Given the description of an element on the screen output the (x, y) to click on. 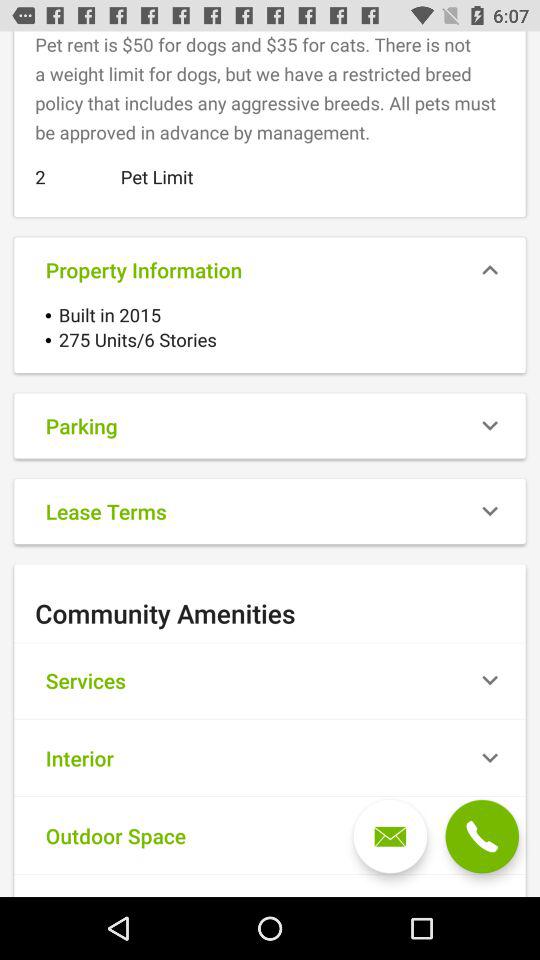
click on the icon which is right to the services option (489, 680)
click on lease terms (269, 511)
